Given the description of an element on the screen output the (x, y) to click on. 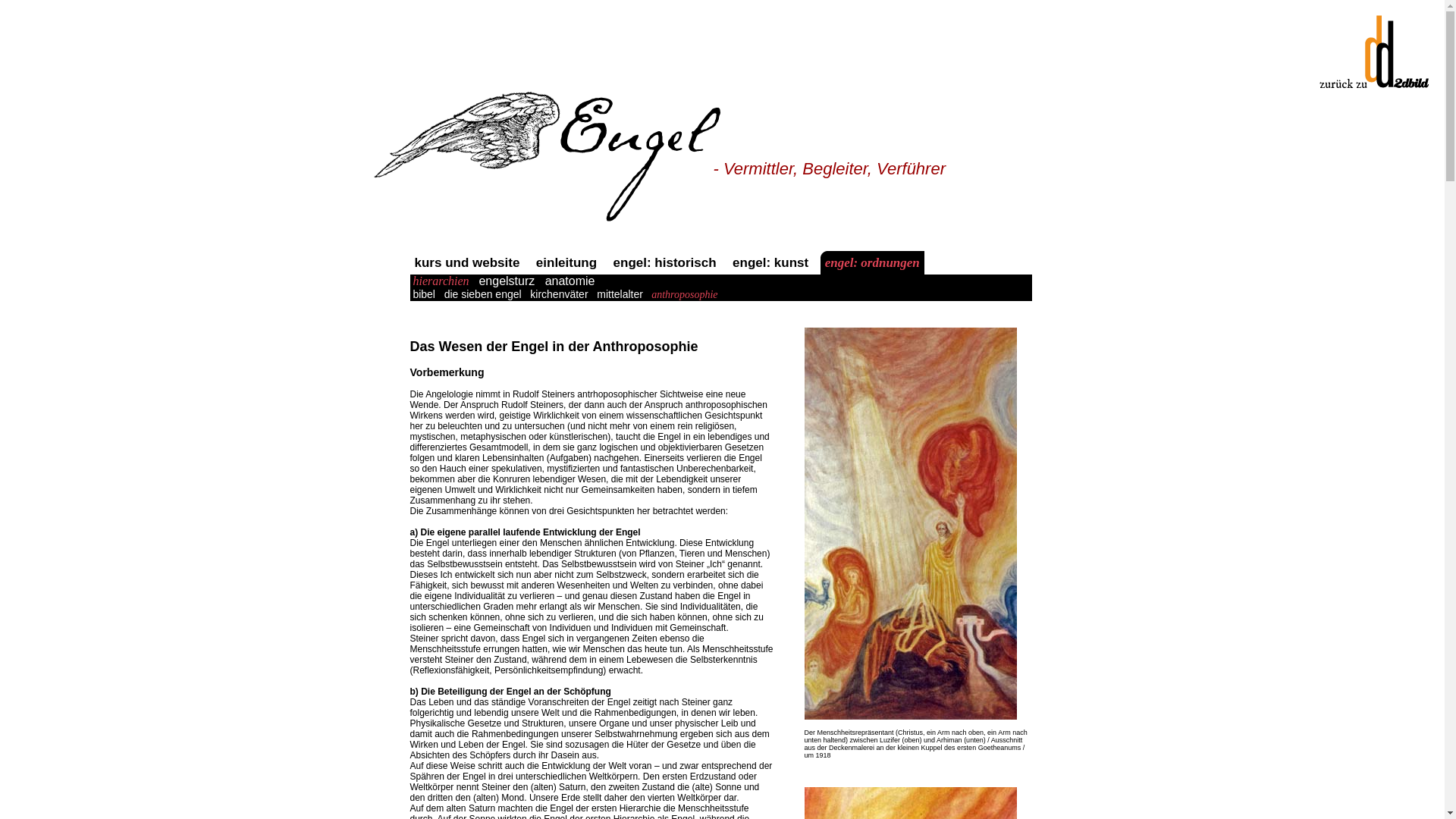
 hierarchien  Element type: text (440, 280)
 anatomie  Element type: text (569, 280)
 engelsturz  Element type: text (506, 280)
kurs und website  Element type: text (468, 262)
einleitung  Element type: text (568, 262)
 die sieben engel  Element type: text (482, 294)
engel: kunst  Element type: text (772, 262)
engel: historisch  Element type: text (666, 262)
engel: ordnungen Element type: text (872, 262)
 bibel  Element type: text (423, 294)
 anthroposophie  Element type: text (684, 294)
 mittelalter  Element type: text (619, 294)
